Given the description of an element on the screen output the (x, y) to click on. 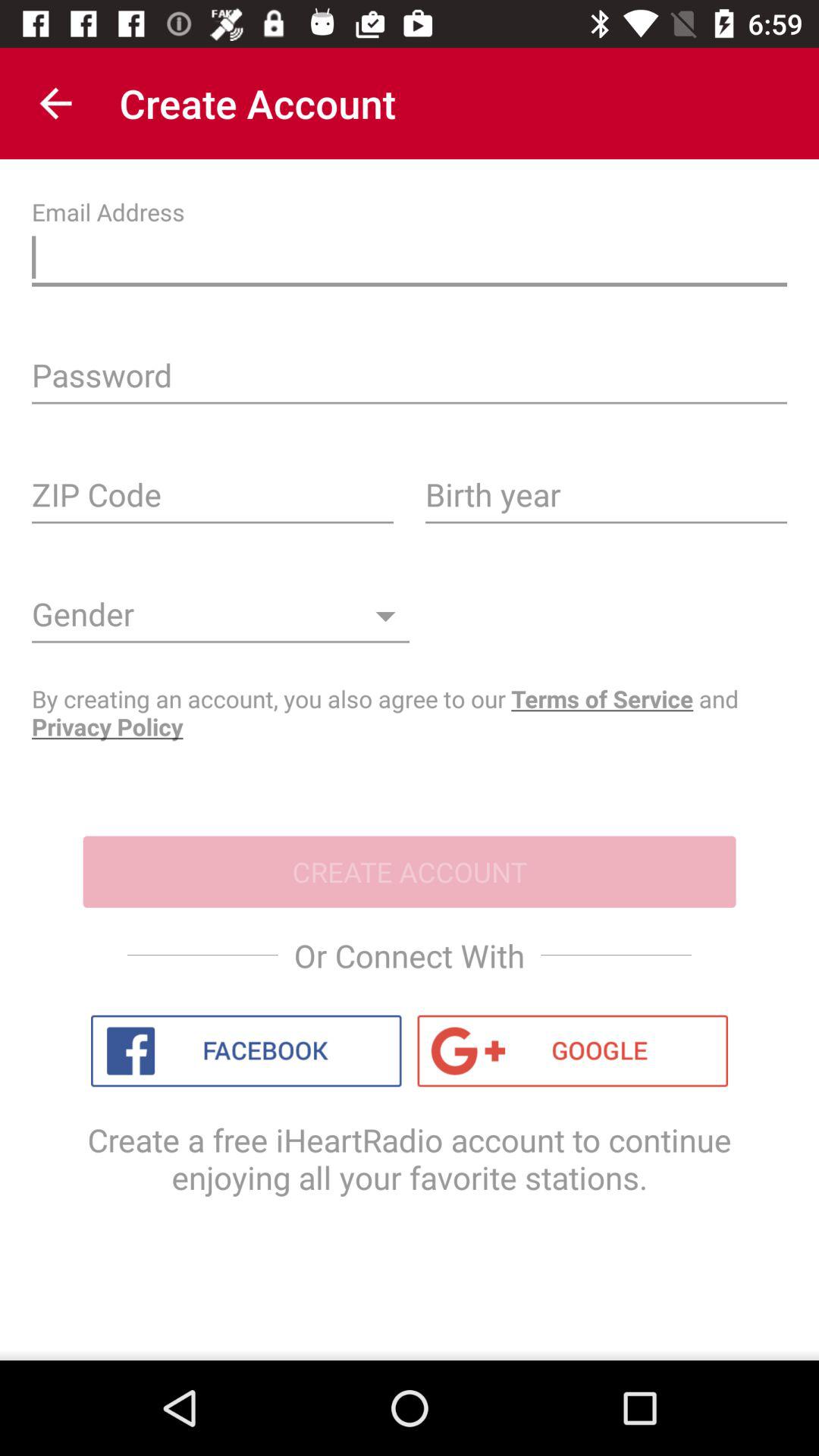
connect with facebook (246, 1050)
